Given the description of an element on the screen output the (x, y) to click on. 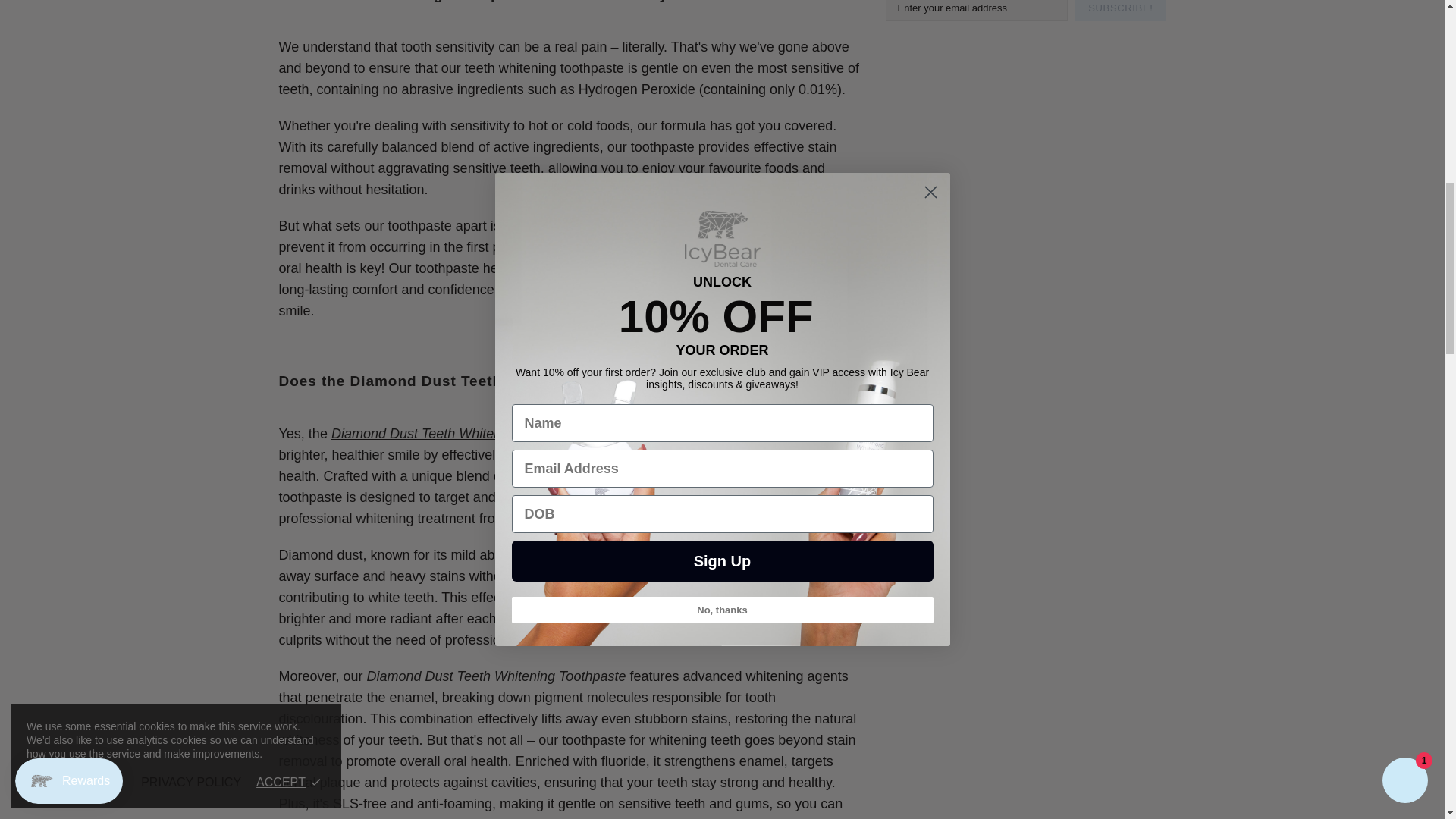
SUBSCRIBE! (1120, 10)
SUBSCRIBE! (1120, 10)
